Given the description of an element on the screen output the (x, y) to click on. 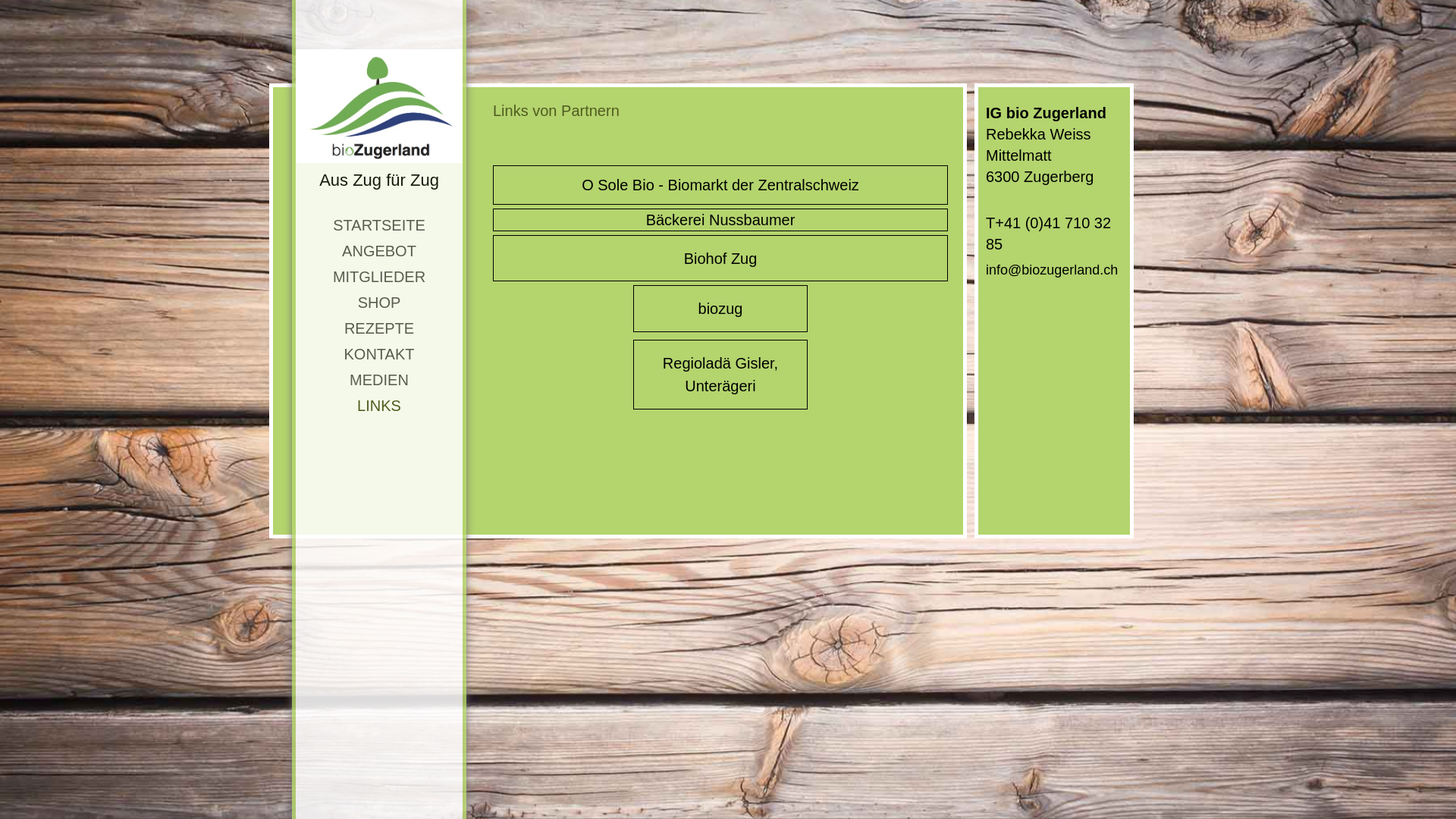
MEDIEN Element type: text (378, 379)
ANGEBOT Element type: text (378, 250)
LINKS Element type: text (378, 405)
KONTAKT Element type: text (378, 354)
biozug Element type: text (720, 308)
  Element type: text (378, 106)
MITGLIEDER Element type: text (378, 276)
STARTSEITE Element type: text (378, 225)
O Sole Bio - Biomarkt der Zentralschweiz Element type: text (720, 184)
SHOP Element type: text (378, 302)
Biohof Zug Element type: text (720, 257)
REZEPTE Element type: text (378, 328)
